Given the description of an element on the screen output the (x, y) to click on. 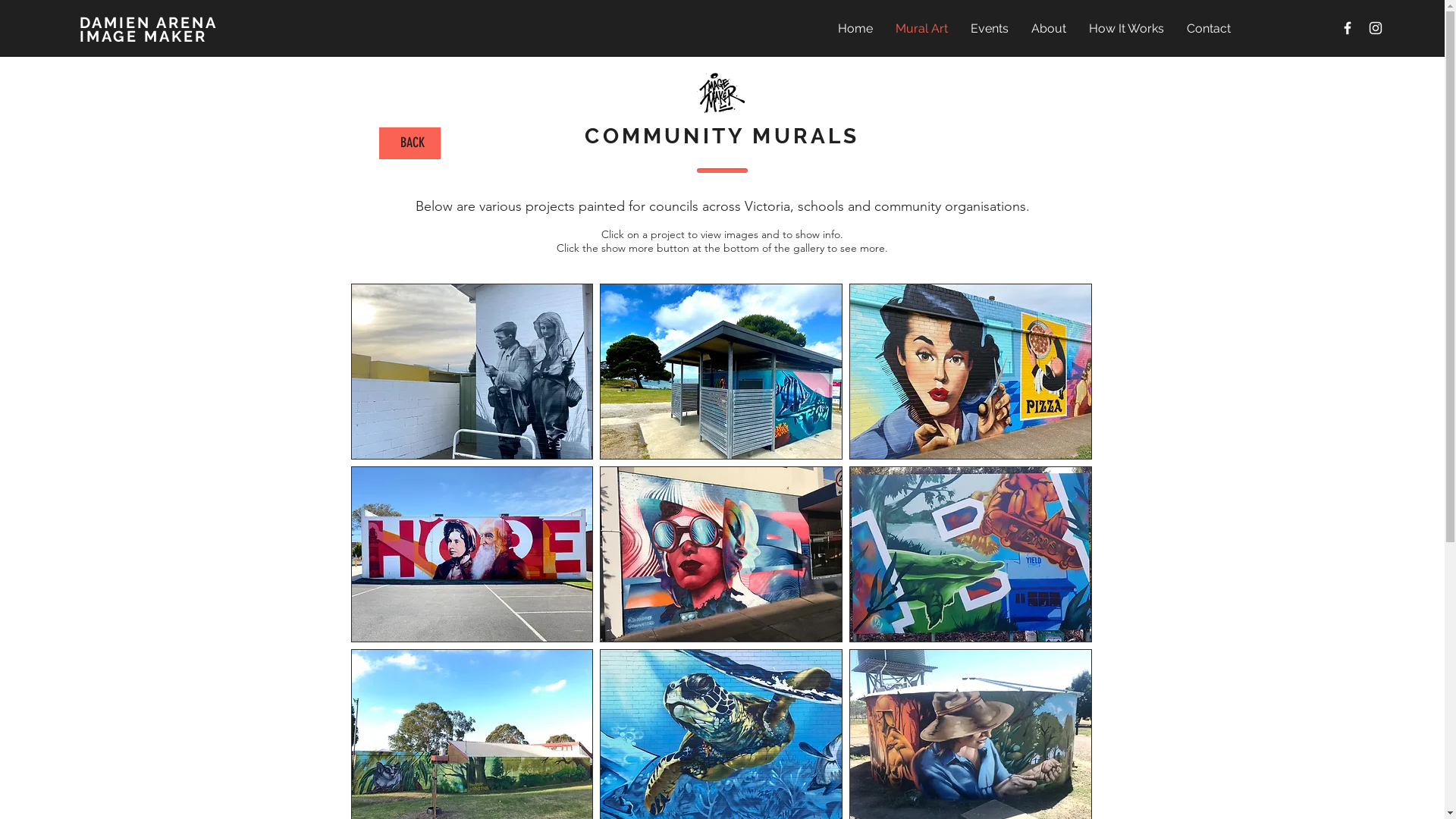
About Element type: text (1048, 28)
How It Works Element type: text (1126, 28)
Mural Art Element type: text (921, 28)
Home Element type: text (855, 28)
Contact Element type: text (1208, 28)
DAMIEN ARENA
IMAGE MAKER Element type: text (148, 29)
Events Element type: text (989, 28)
